Given the description of an element on the screen output the (x, y) to click on. 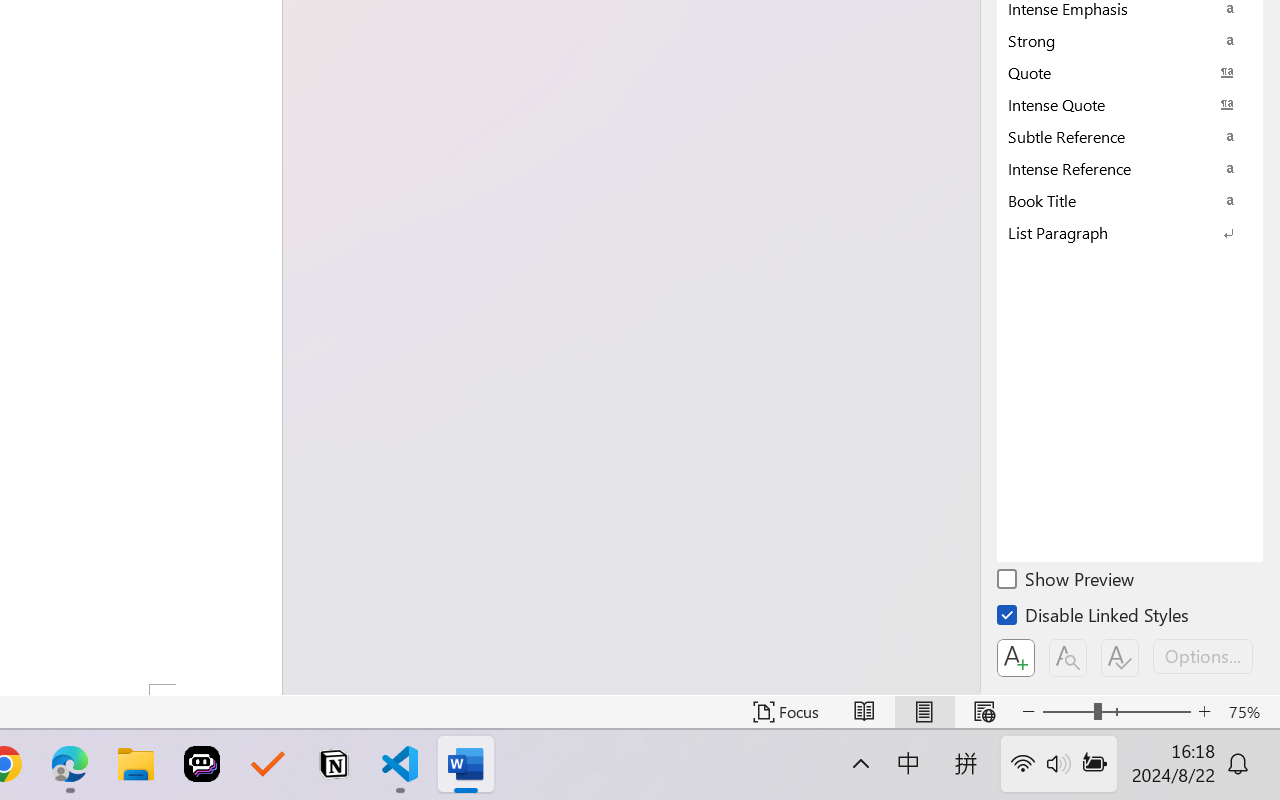
Options... (1203, 656)
Quote (1130, 72)
Zoom 75% (1249, 712)
Intense Quote (1130, 104)
Disable Linked Styles (1094, 618)
Strong (1130, 40)
List Paragraph (1130, 232)
Intense Reference (1130, 168)
Subtle Reference (1130, 136)
Class: NetUIButton (1119, 657)
